Given the description of an element on the screen output the (x, y) to click on. 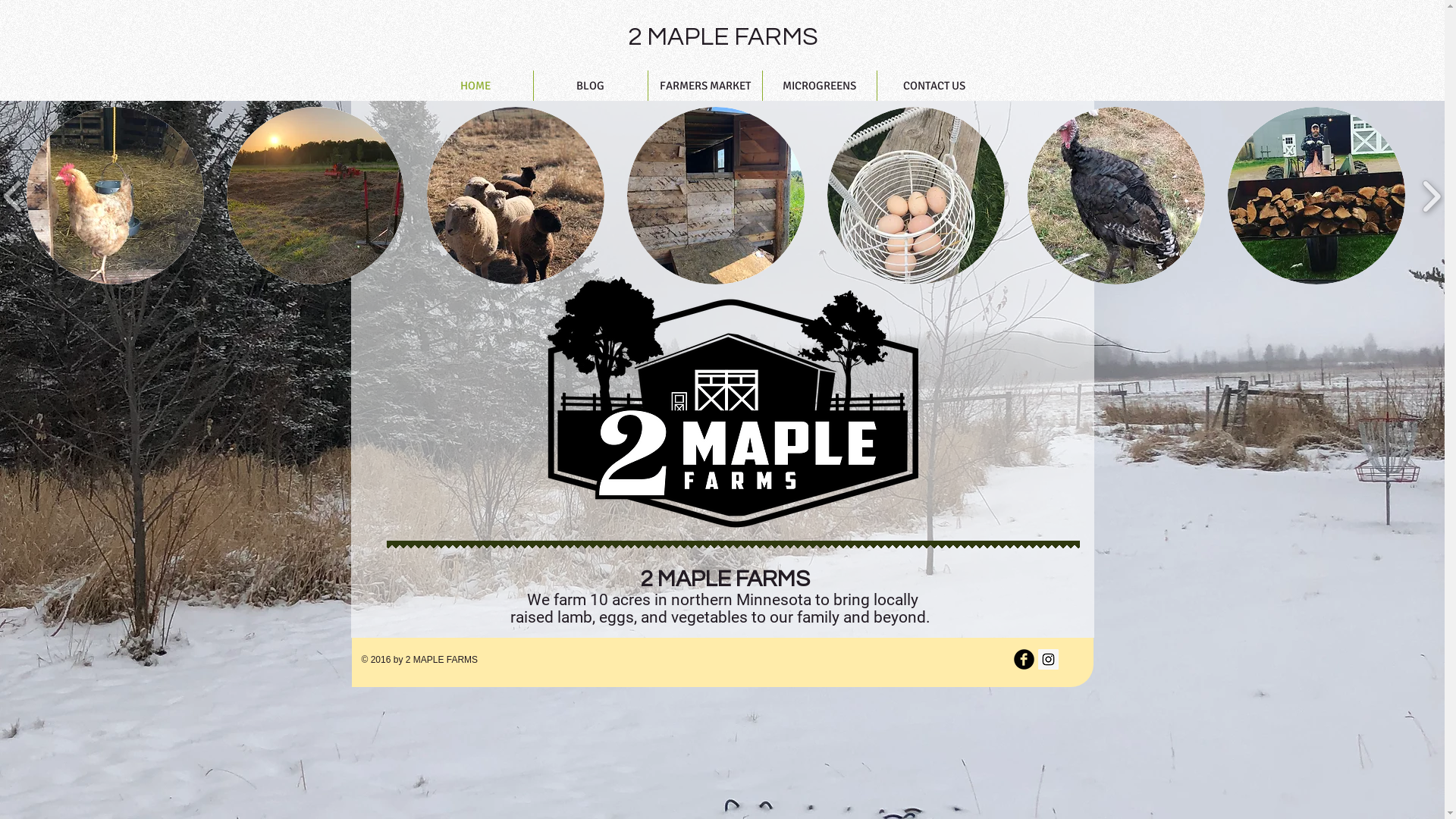
FARMERS MARKET Element type: text (704, 85)
CONTACT US Element type: text (933, 85)
HOME Element type: text (475, 85)
MICROGREENS Element type: text (819, 85)
BLOG Element type: text (590, 85)
